Given the description of an element on the screen output the (x, y) to click on. 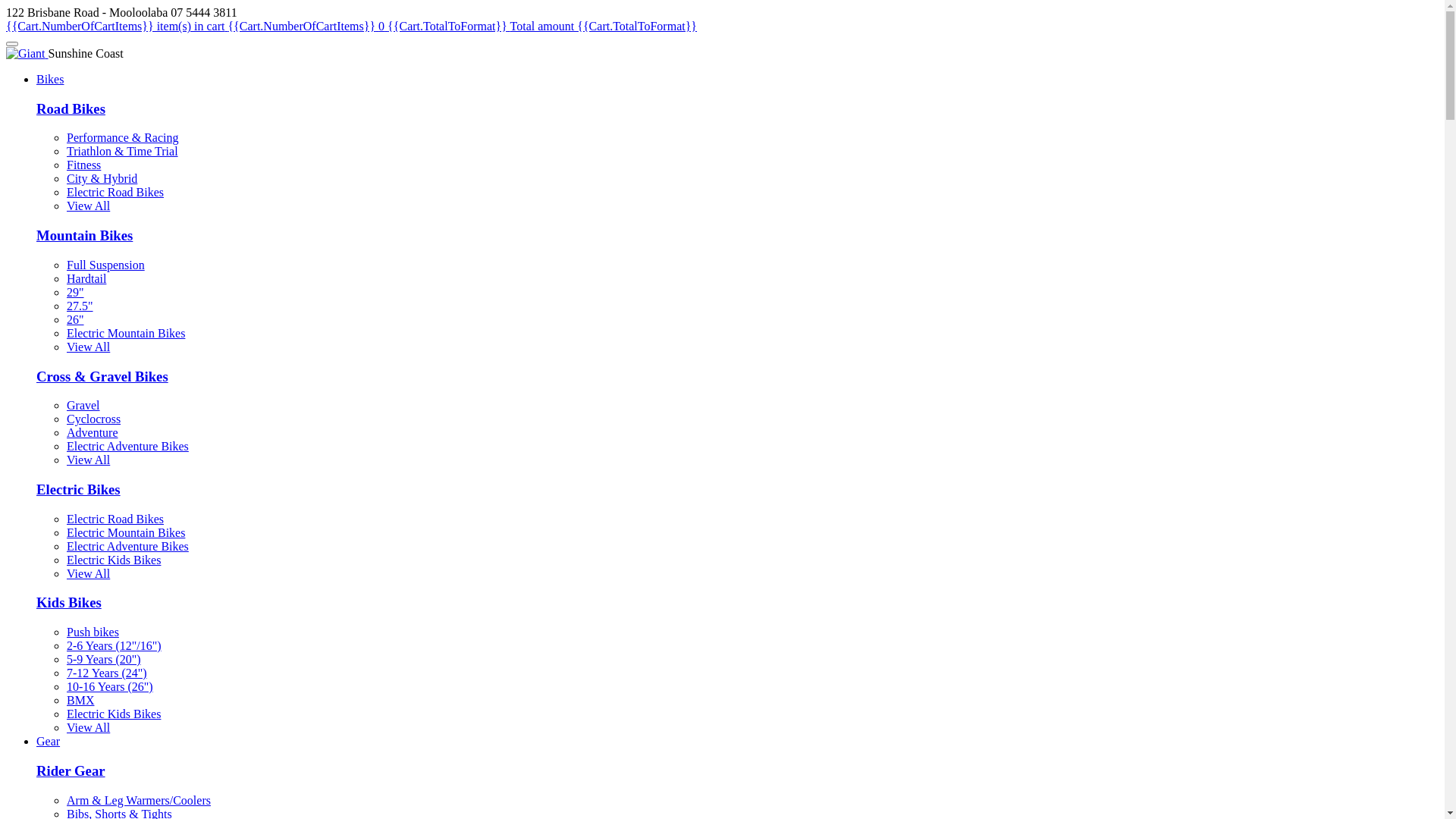
Full Suspension Element type: text (105, 264)
27.5" Element type: text (79, 305)
Mountain Bikes Element type: text (84, 235)
Adventure Element type: text (92, 432)
Electric Road Bikes Element type: text (114, 191)
10-16 Years (26") Element type: text (109, 686)
Triathlon & Time Trial Element type: text (122, 150)
Kids Bikes Element type: text (68, 602)
Electric Kids Bikes Element type: text (113, 713)
5-9 Years (20") Element type: text (103, 658)
Arm & Leg Warmers/Coolers Element type: text (138, 799)
Electric Mountain Bikes Element type: text (125, 532)
Push bikes Element type: text (92, 631)
Cyclocross Element type: text (93, 418)
Electric Adventure Bikes Element type: text (127, 545)
View All Element type: text (87, 459)
Electric Bikes Element type: text (78, 489)
Performance & Racing Element type: text (122, 137)
Gear Element type: text (47, 740)
26" Element type: text (75, 319)
Electric Road Bikes Element type: text (114, 518)
View All Element type: text (87, 727)
Rider Gear Element type: text (70, 770)
Electric Mountain Bikes Element type: text (125, 332)
Cross & Gravel Bikes Element type: text (102, 376)
Road Bikes Element type: text (70, 108)
View All Element type: text (87, 573)
7-12 Years (24") Element type: text (106, 672)
29" Element type: text (75, 291)
City & Hybrid Element type: text (101, 178)
Hardtail Element type: text (86, 278)
Gravel Element type: text (83, 404)
View All Element type: text (87, 346)
Bikes Element type: text (49, 78)
Electric Adventure Bikes Element type: text (127, 445)
BMX Element type: text (80, 699)
Fitness Element type: text (83, 164)
View All Element type: text (87, 205)
Electric Kids Bikes Element type: text (113, 559)
2-6 Years (12"/16") Element type: text (113, 645)
